Given the description of an element on the screen output the (x, y) to click on. 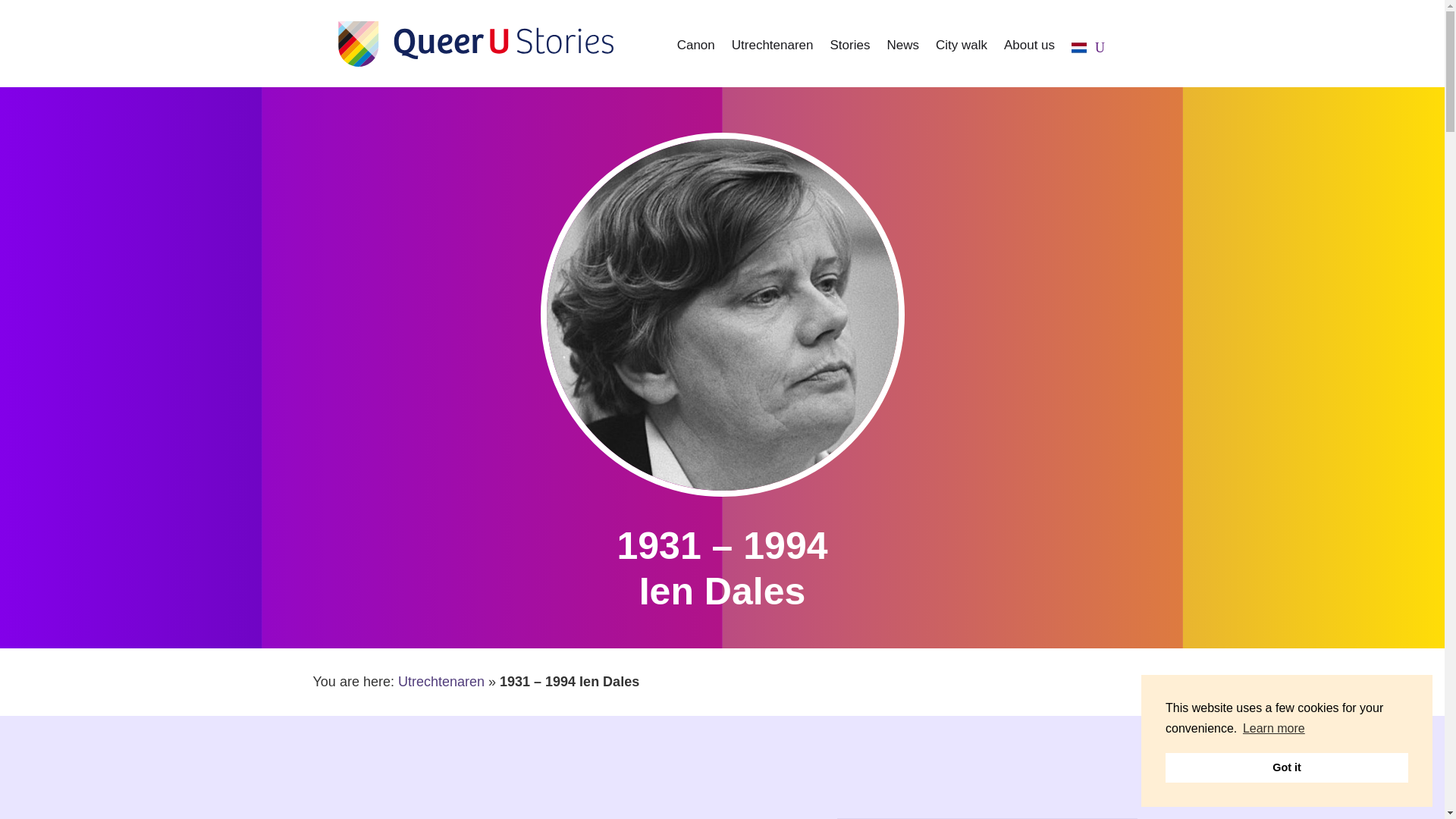
Canon (695, 50)
Utrecht queer history (695, 50)
Guided tours in Utrecht city centre (961, 50)
Utrechtenaren (440, 681)
News (902, 50)
Utrechtenaren (772, 50)
Logo Queer-U-Stories (462, 41)
About us (1029, 50)
Events and additions (902, 50)
City walk (961, 50)
Learn more (1273, 728)
Utrecht queer history background (849, 50)
Stories (849, 50)
Got it (1286, 767)
Famous Utrecht queers (772, 50)
